Given the description of an element on the screen output the (x, y) to click on. 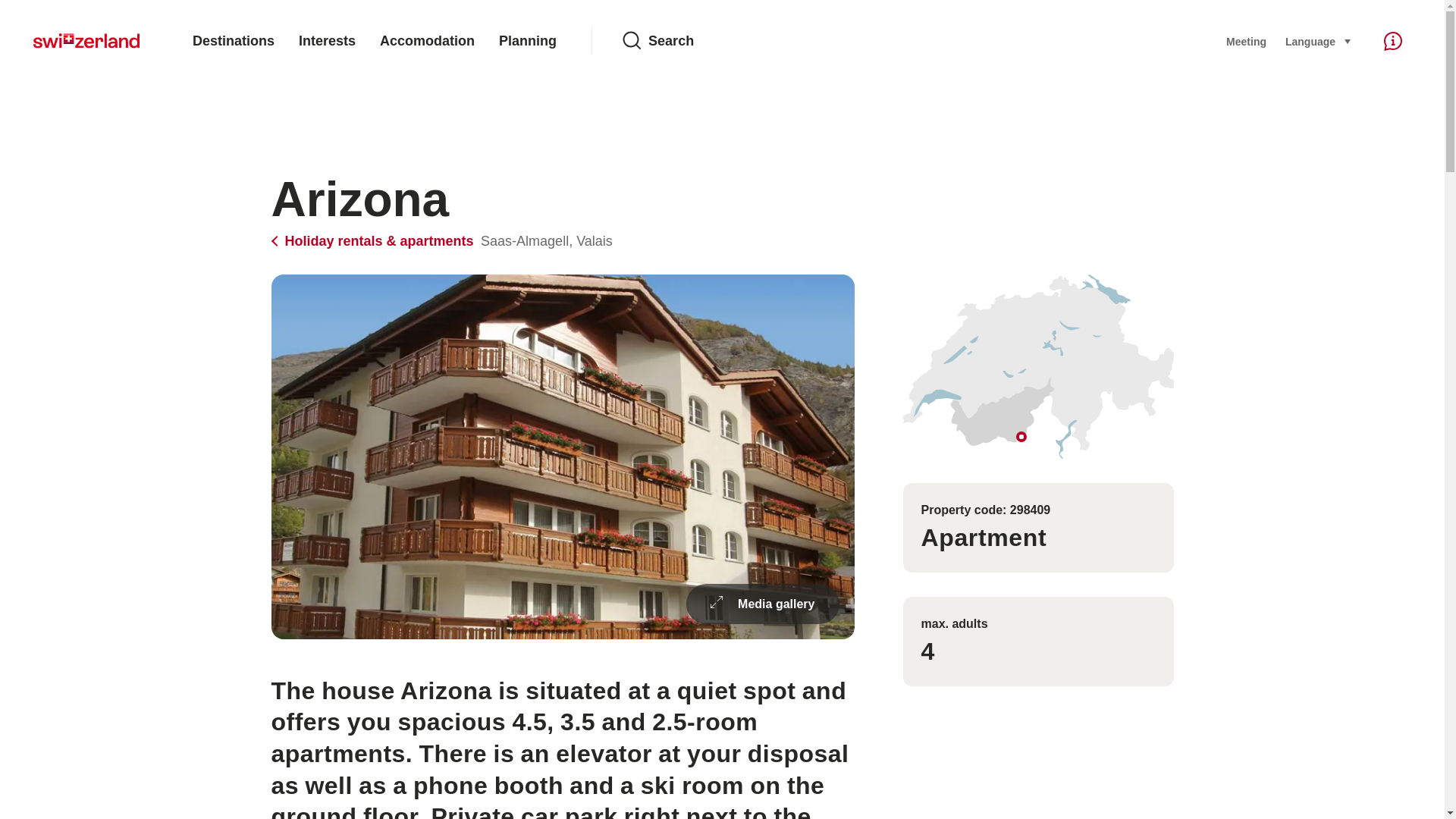
Search (912, 41)
Destinations (233, 41)
Interests (327, 41)
Planning (527, 41)
Back to overview (373, 240)
Accomodation (427, 41)
Meeting (1245, 40)
MySwitzerland (86, 41)
